Given the description of an element on the screen output the (x, y) to click on. 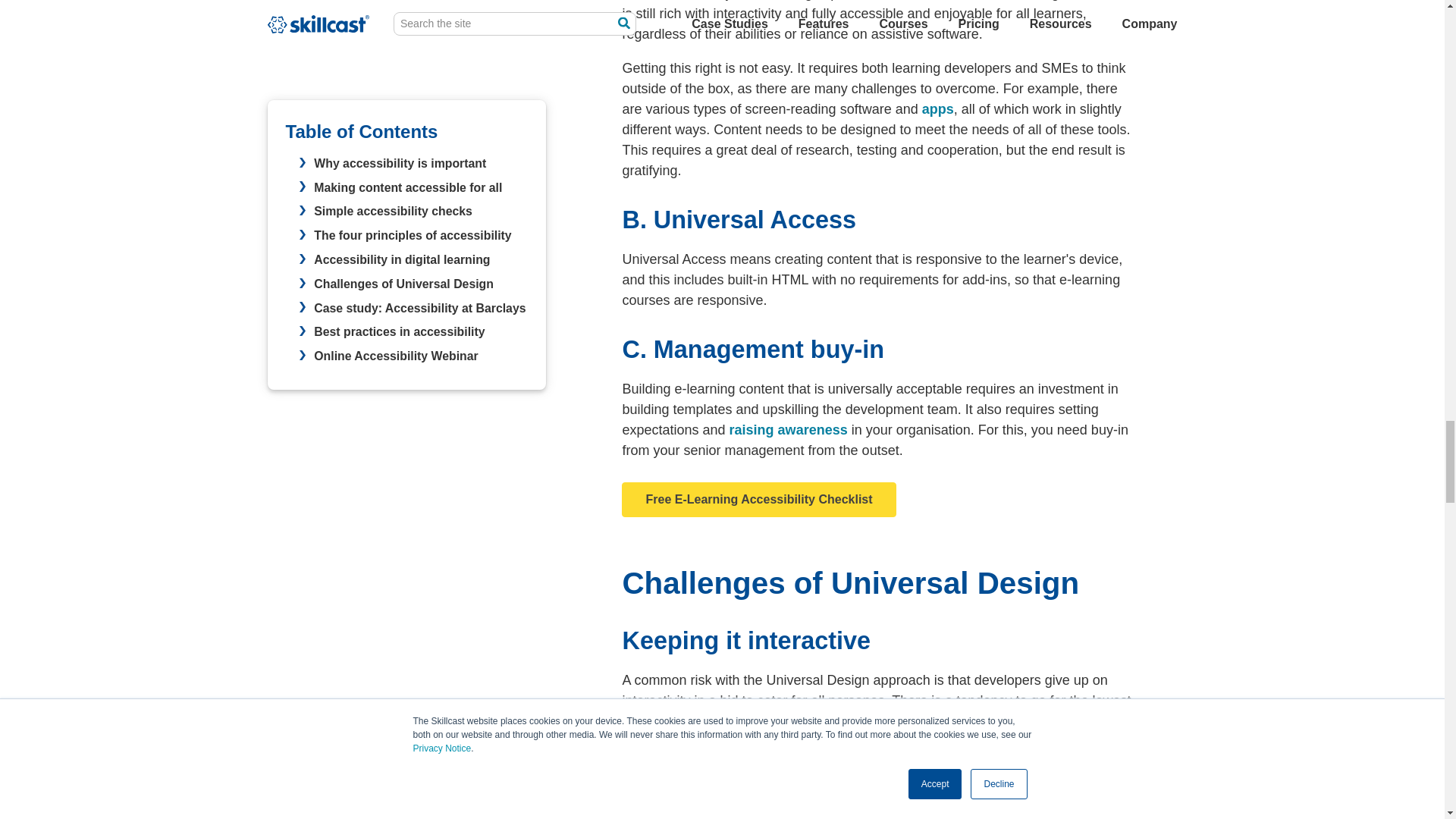
Free E-Learning Accessibility Checklist (758, 499)
